Given the description of an element on the screen output the (x, y) to click on. 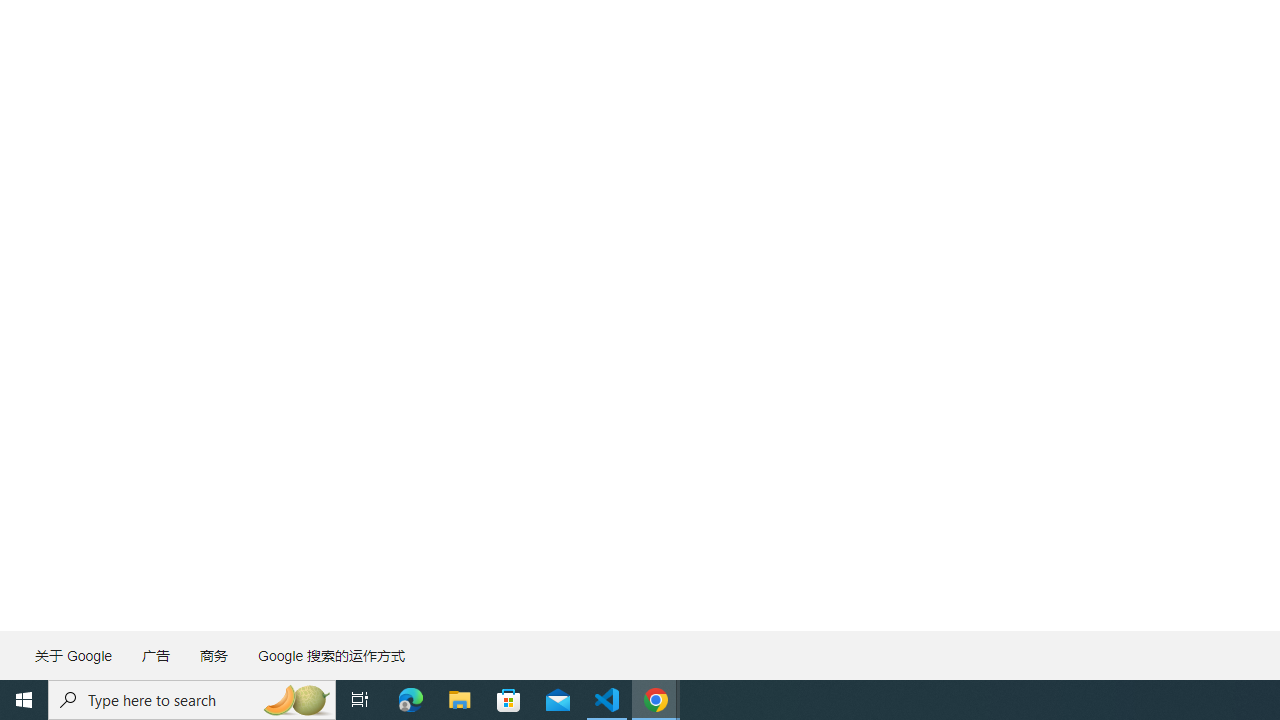
Type here to search (191, 699)
Search highlights icon opens search home window (295, 699)
Microsoft Edge (411, 699)
Microsoft Store (509, 699)
File Explorer (460, 699)
Task View (359, 699)
Google Chrome - 2 running windows (656, 699)
Visual Studio Code - 1 running window (607, 699)
Start (24, 699)
